Given the description of an element on the screen output the (x, y) to click on. 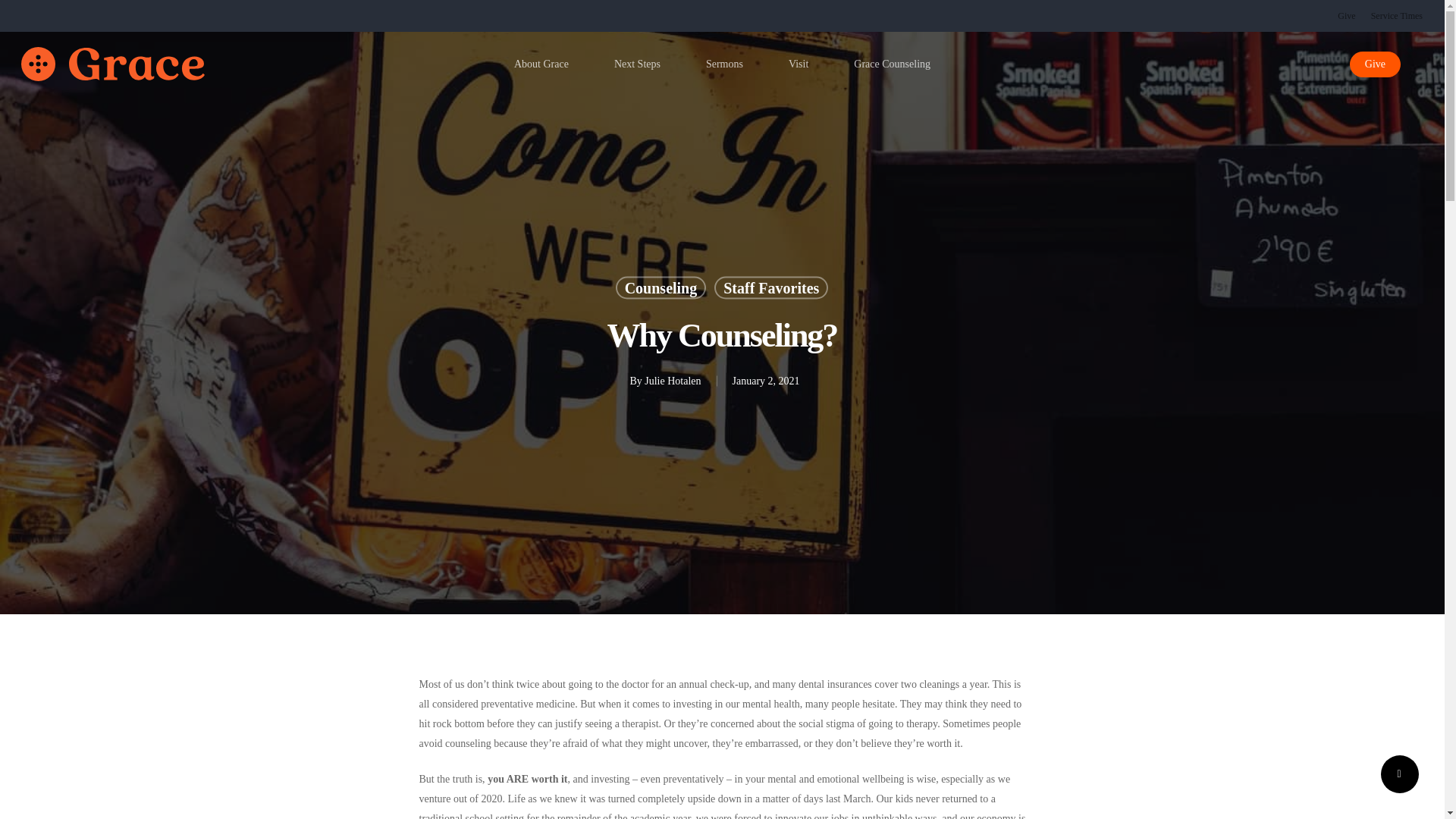
Next Steps (636, 63)
Julie Hotalen (672, 379)
Counseling (660, 287)
Give (1374, 63)
Service Times (1396, 15)
Visit (798, 63)
Sermons (723, 63)
About Grace (541, 63)
Give (1346, 15)
Posts by Julie Hotalen (672, 379)
Staff Favorites (771, 287)
Grace Counseling (892, 63)
